Given the description of an element on the screen output the (x, y) to click on. 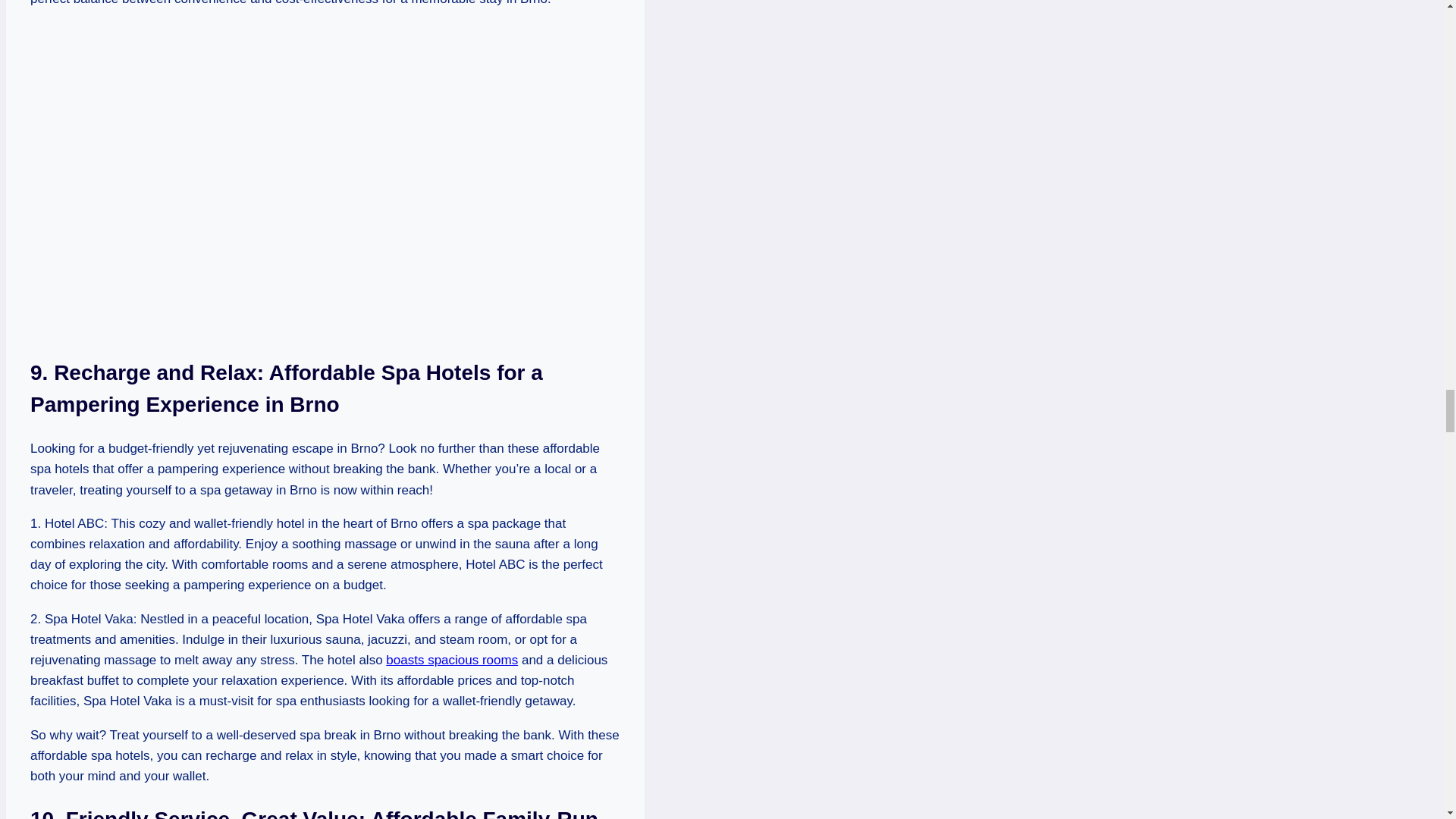
Where to Stay in Prague Old Town: Historic District (451, 659)
boasts spacious rooms (451, 659)
